Given the description of an element on the screen output the (x, y) to click on. 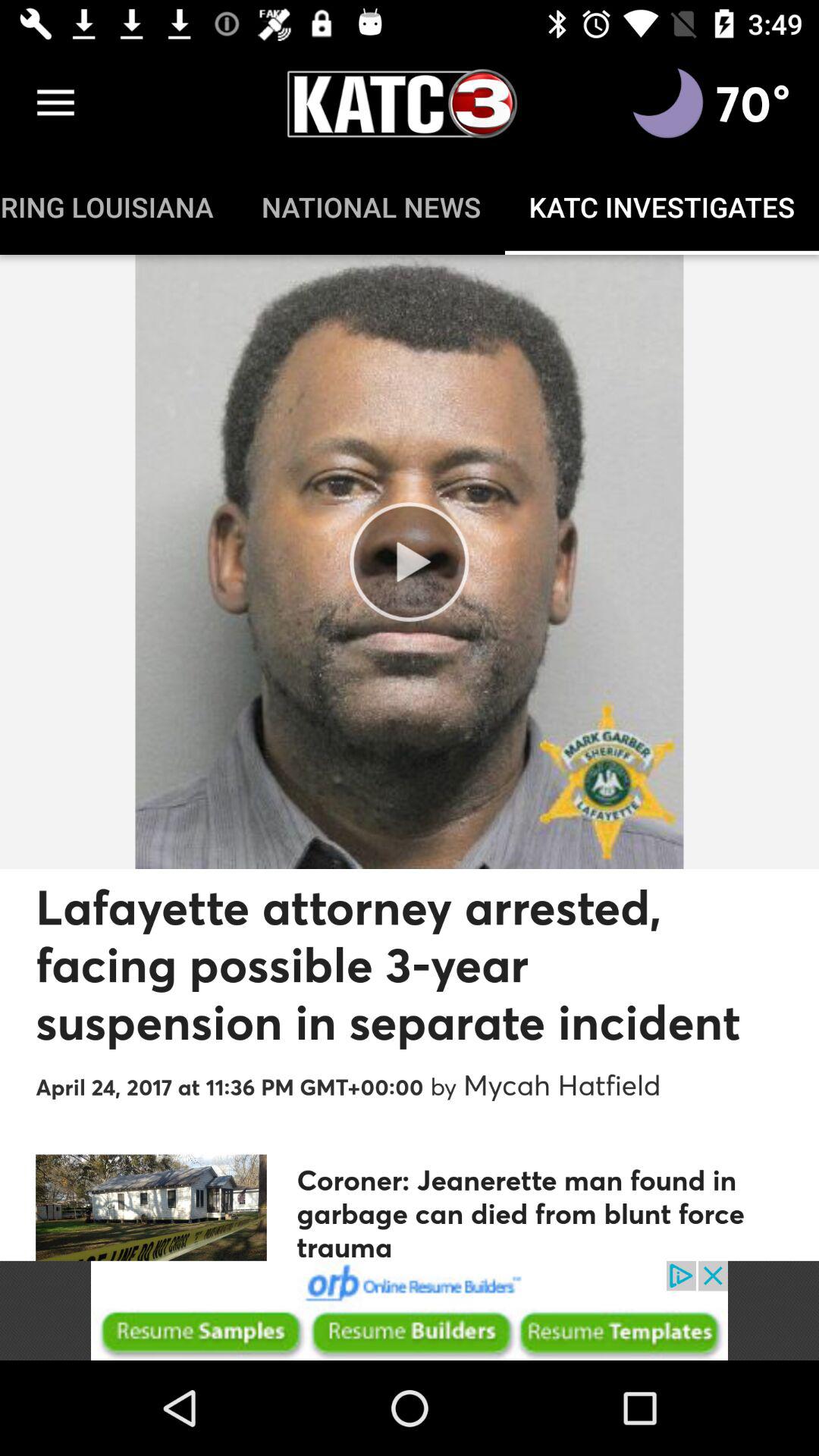
go to the play button (409, 561)
